Given the description of an element on the screen output the (x, y) to click on. 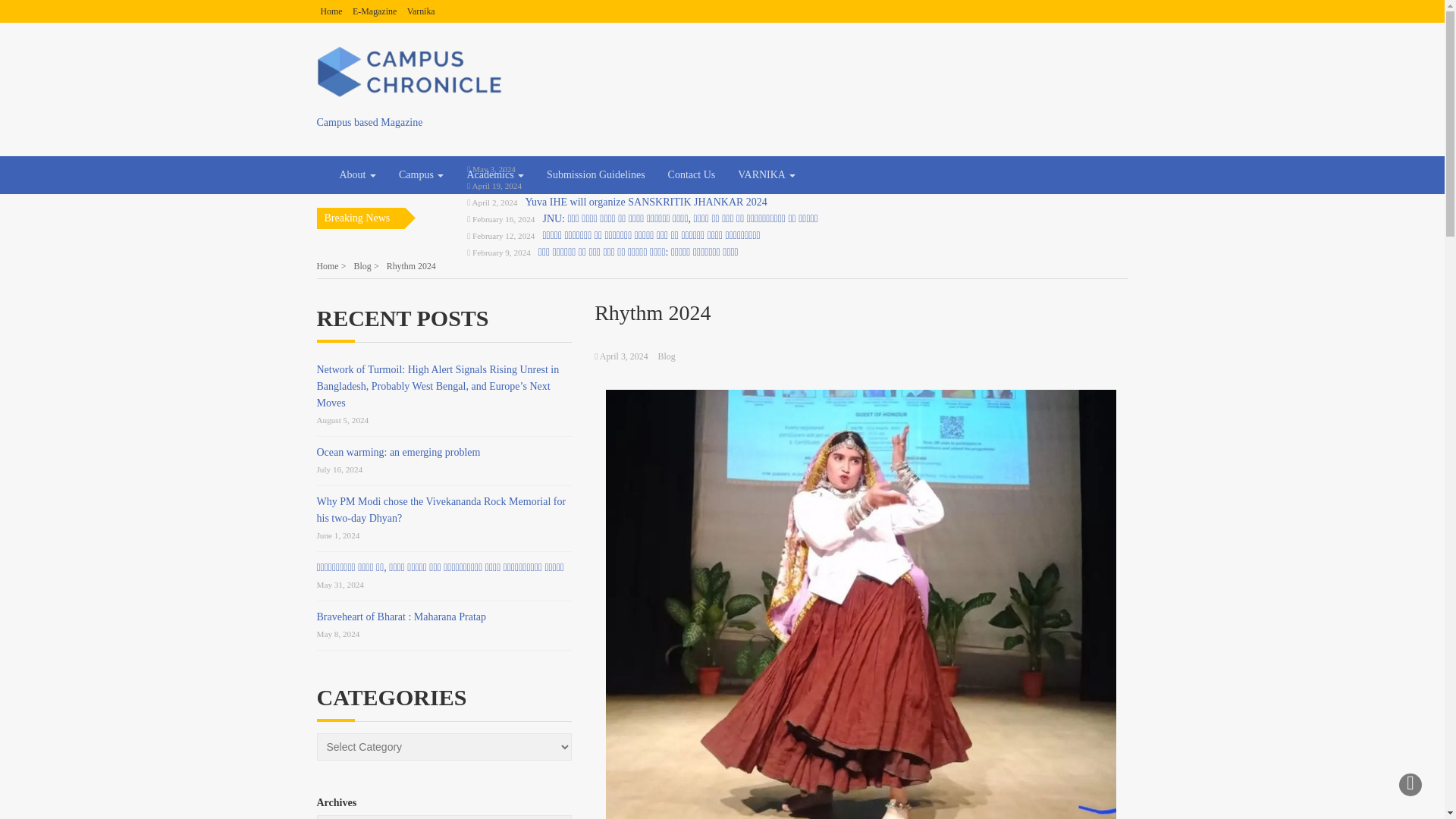
Contact Us (691, 175)
Submission Guidelines (595, 175)
About (357, 175)
Academics (494, 175)
Varnika (421, 10)
Campus (420, 175)
Home (331, 10)
VARNIKA (766, 175)
Campus (420, 175)
E-Magazine (374, 10)
